Given the description of an element on the screen output the (x, y) to click on. 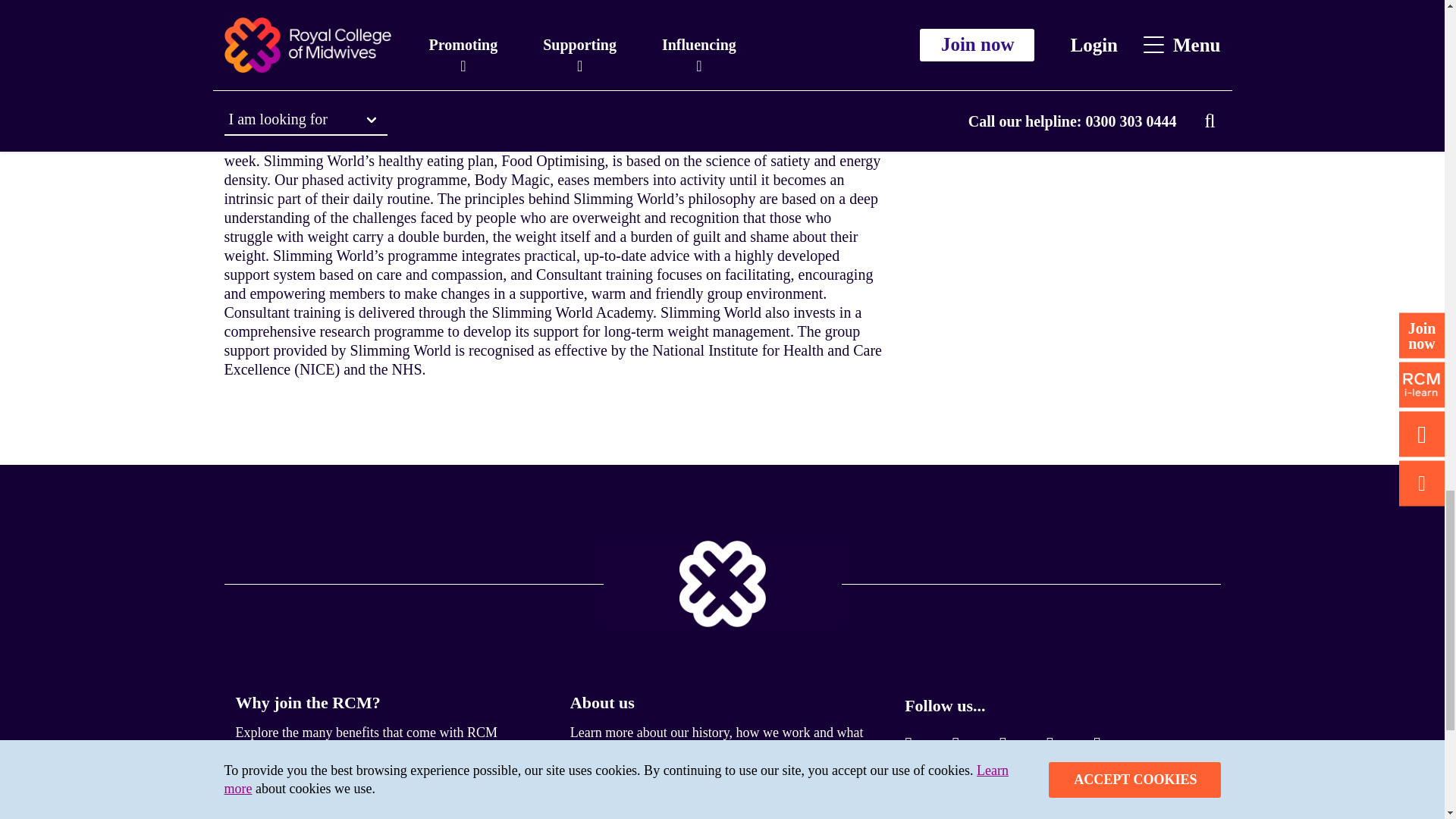
About us (602, 701)
Join Team RCM (628, 801)
Contact us (272, 801)
Why join the RCM? (307, 701)
